Given the description of an element on the screen output the (x, y) to click on. 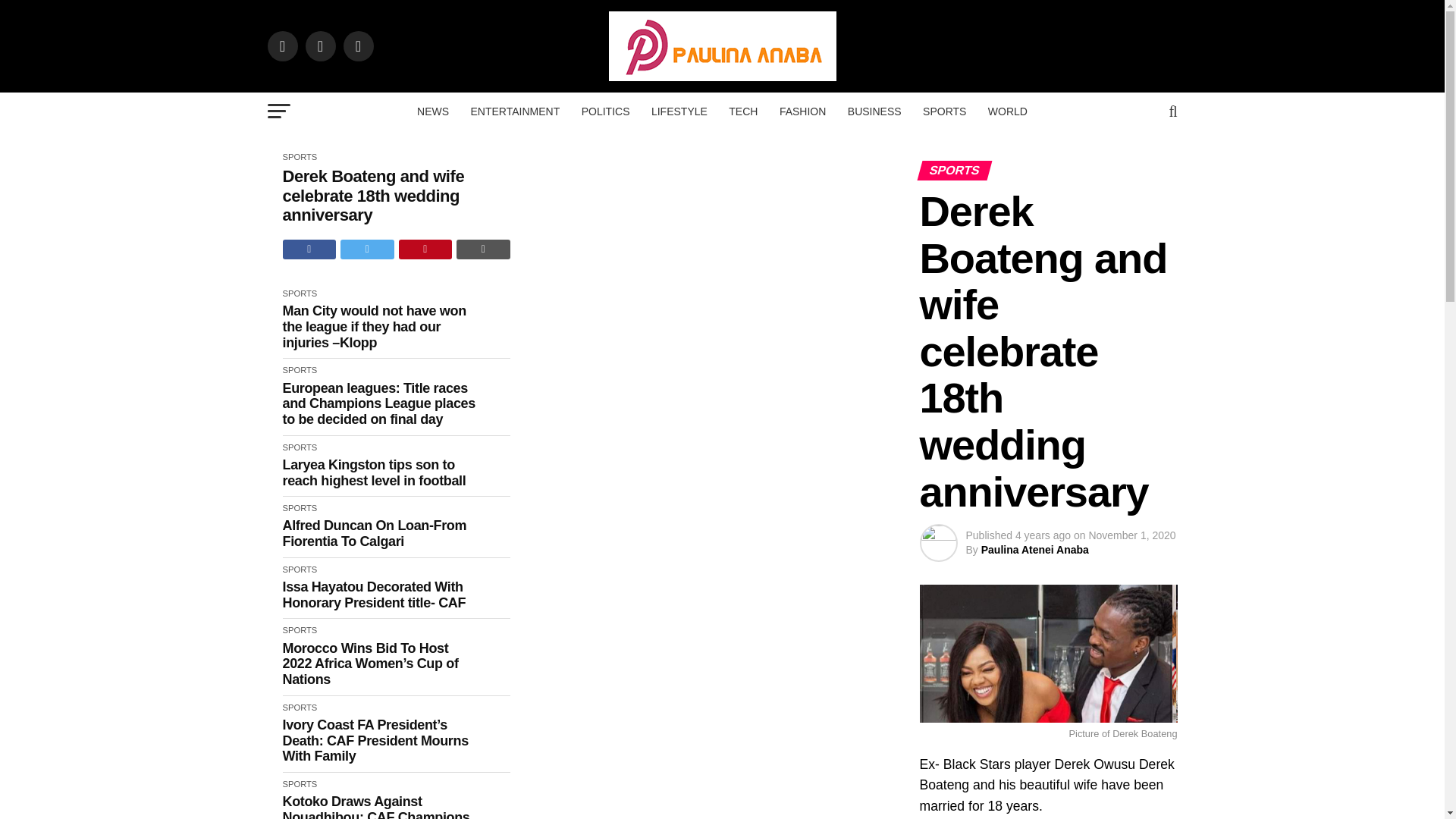
Share on Facebook (309, 249)
Tweet This Post (367, 249)
ENTERTAINMENT (515, 111)
POLITICS (605, 111)
LIFESTYLE (679, 111)
NEWS (432, 111)
Pin This Post (425, 249)
